Given the description of an element on the screen output the (x, y) to click on. 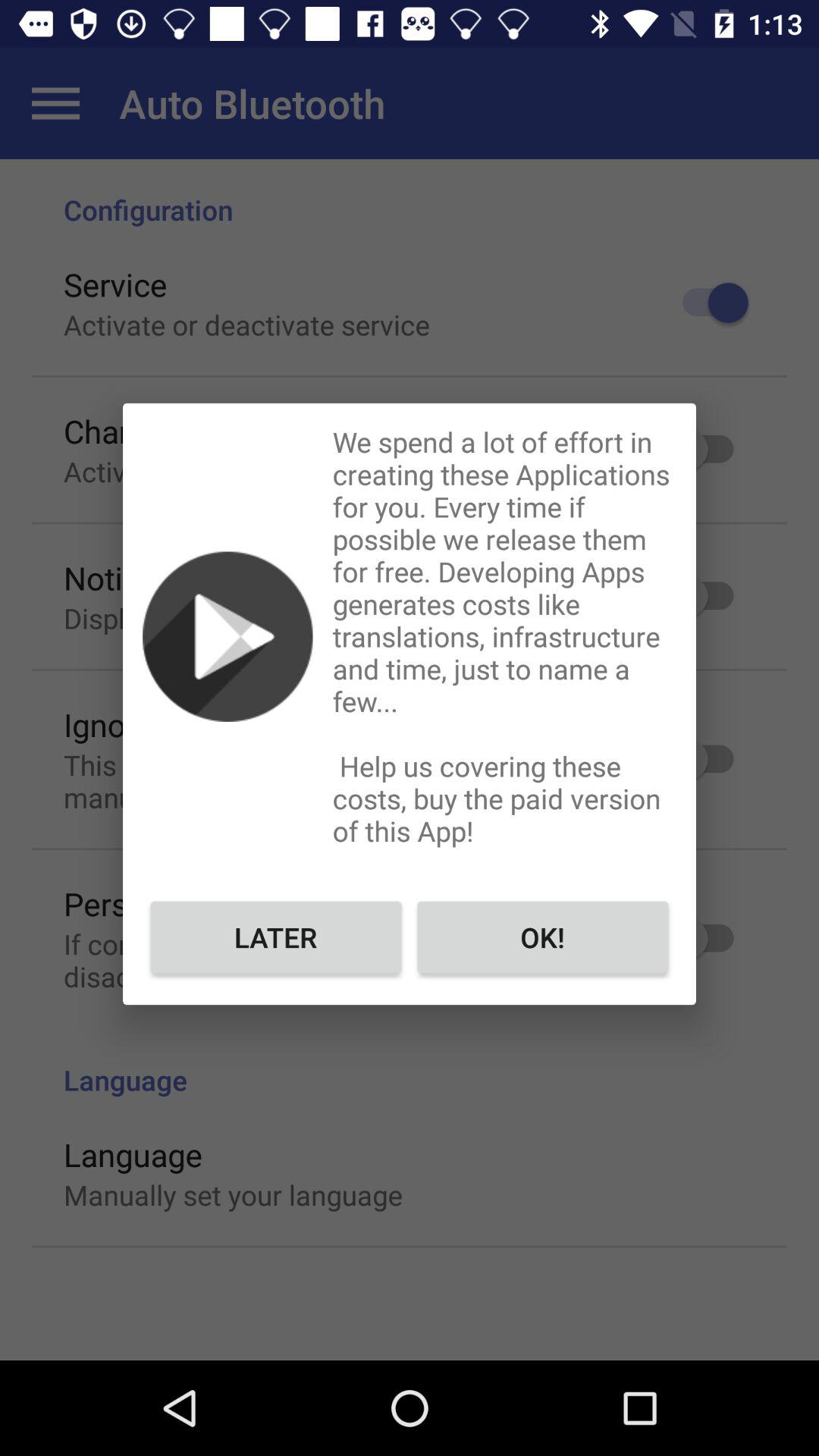
swipe to later icon (275, 937)
